Given the description of an element on the screen output the (x, y) to click on. 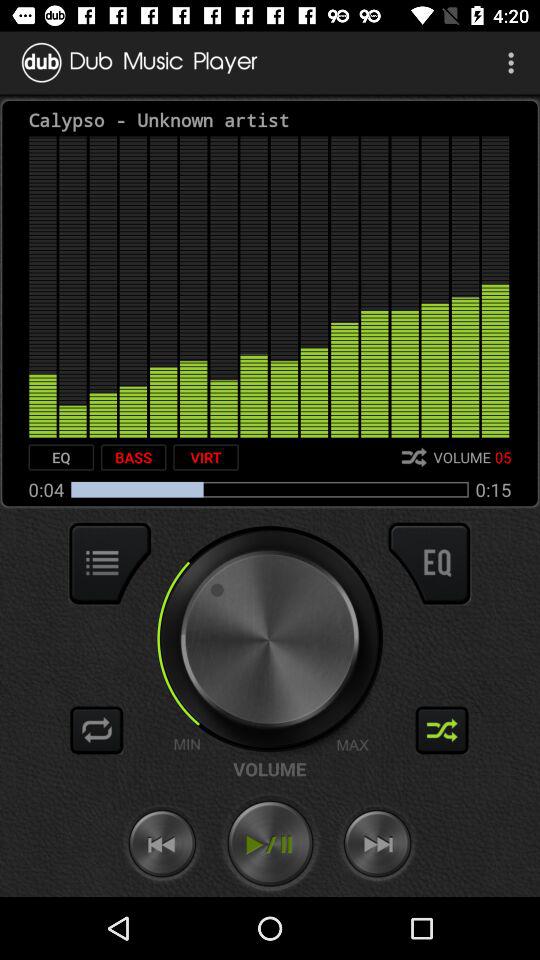
swipe to eq   item (61, 457)
